Given the description of an element on the screen output the (x, y) to click on. 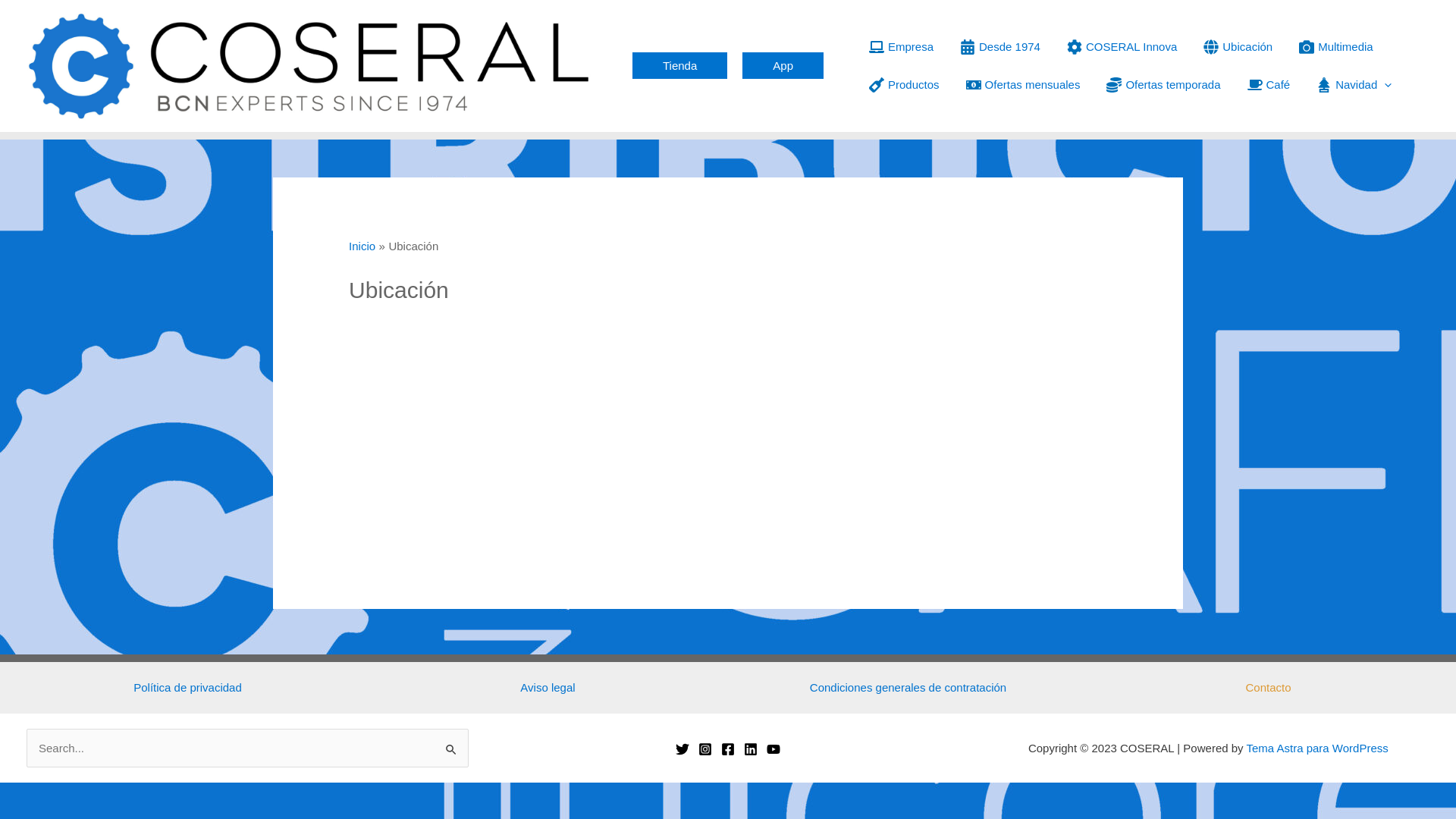
Empresa Element type: text (898, 46)
Aviso legal Element type: text (547, 686)
Multimedia Element type: text (1333, 46)
Tienda Element type: text (679, 65)
Navidad Element type: text (1351, 84)
Google Map for  Element type: hover (727, 434)
Inicio Element type: text (361, 245)
Ofertas temporada Element type: text (1161, 84)
Productos Element type: text (901, 84)
Buscar Element type: text (451, 743)
Tema Astra para WordPress Element type: text (1316, 747)
COSERAL Innova Element type: text (1119, 46)
Contacto Element type: text (1267, 686)
App Element type: text (782, 65)
Desde 1974 Element type: text (997, 46)
Ofertas mensuales Element type: text (1021, 84)
